Given the description of an element on the screen output the (x, y) to click on. 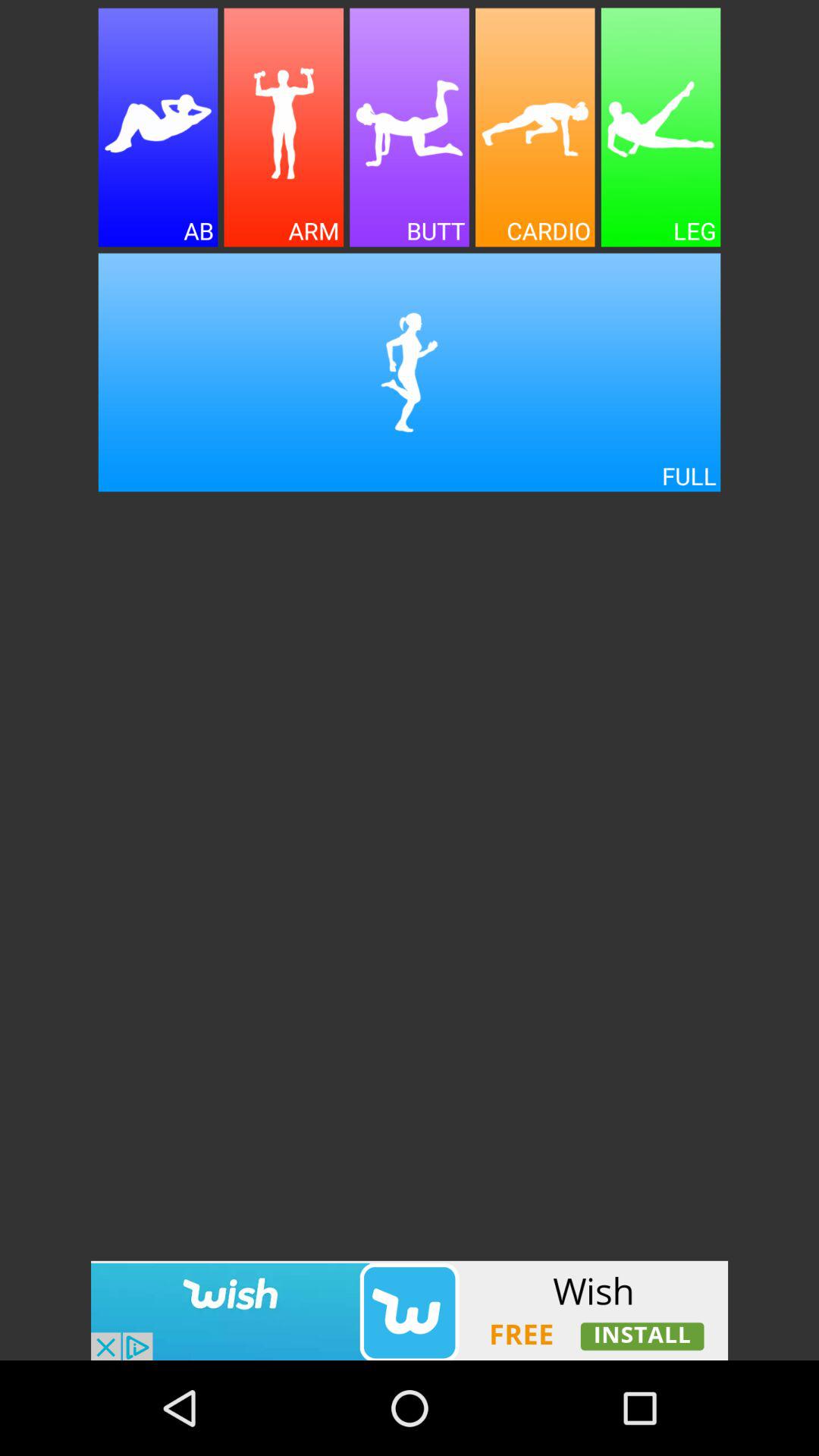
show abdominal exercises (157, 126)
